Given the description of an element on the screen output the (x, y) to click on. 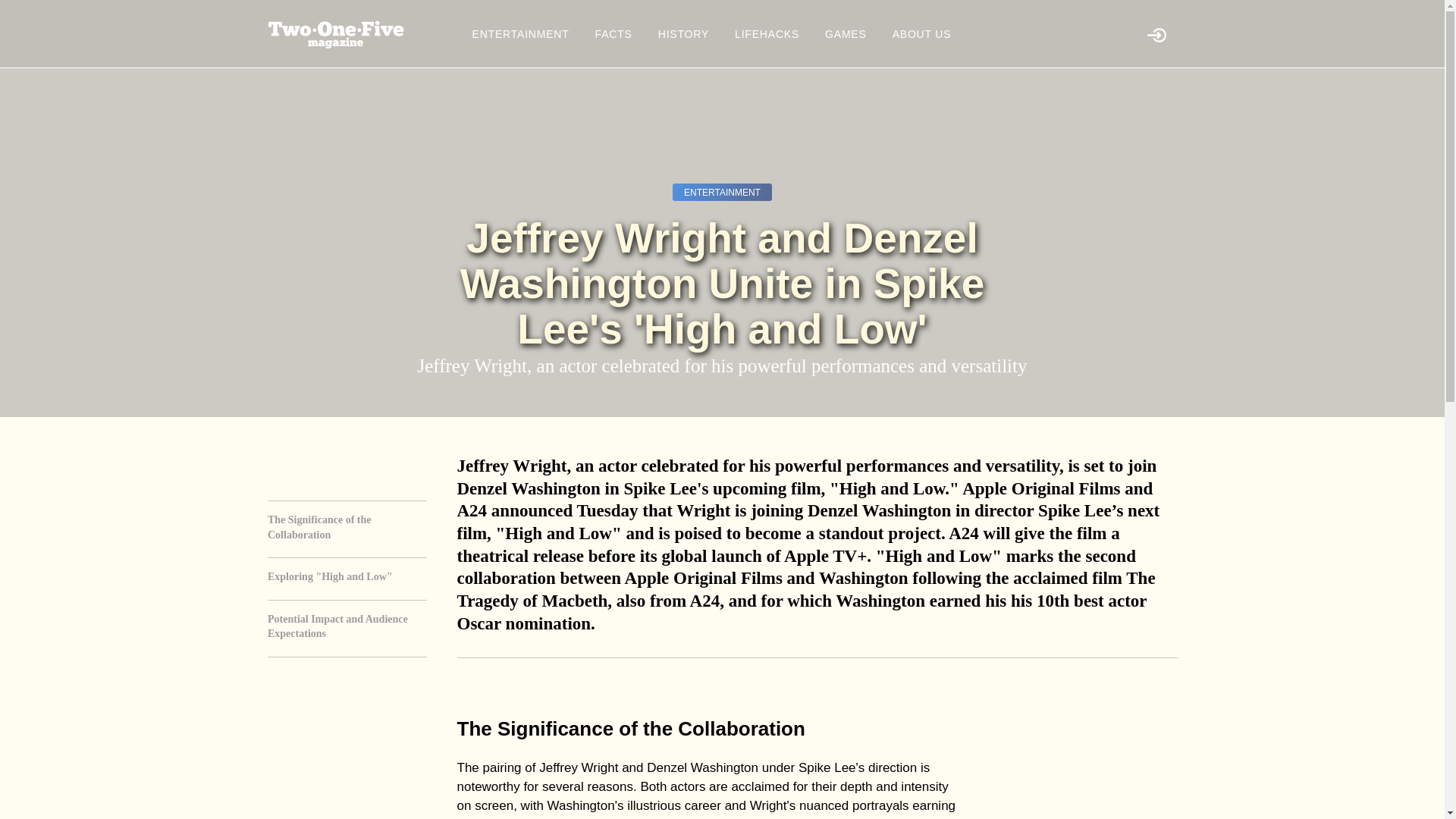
ENTERTAINMENT (520, 33)
HISTORY (683, 33)
LIFEHACKS (767, 33)
ABOUT US (922, 33)
FACTS (613, 33)
ENTERTAINMENT (721, 191)
GAMES (845, 33)
